Given the description of an element on the screen output the (x, y) to click on. 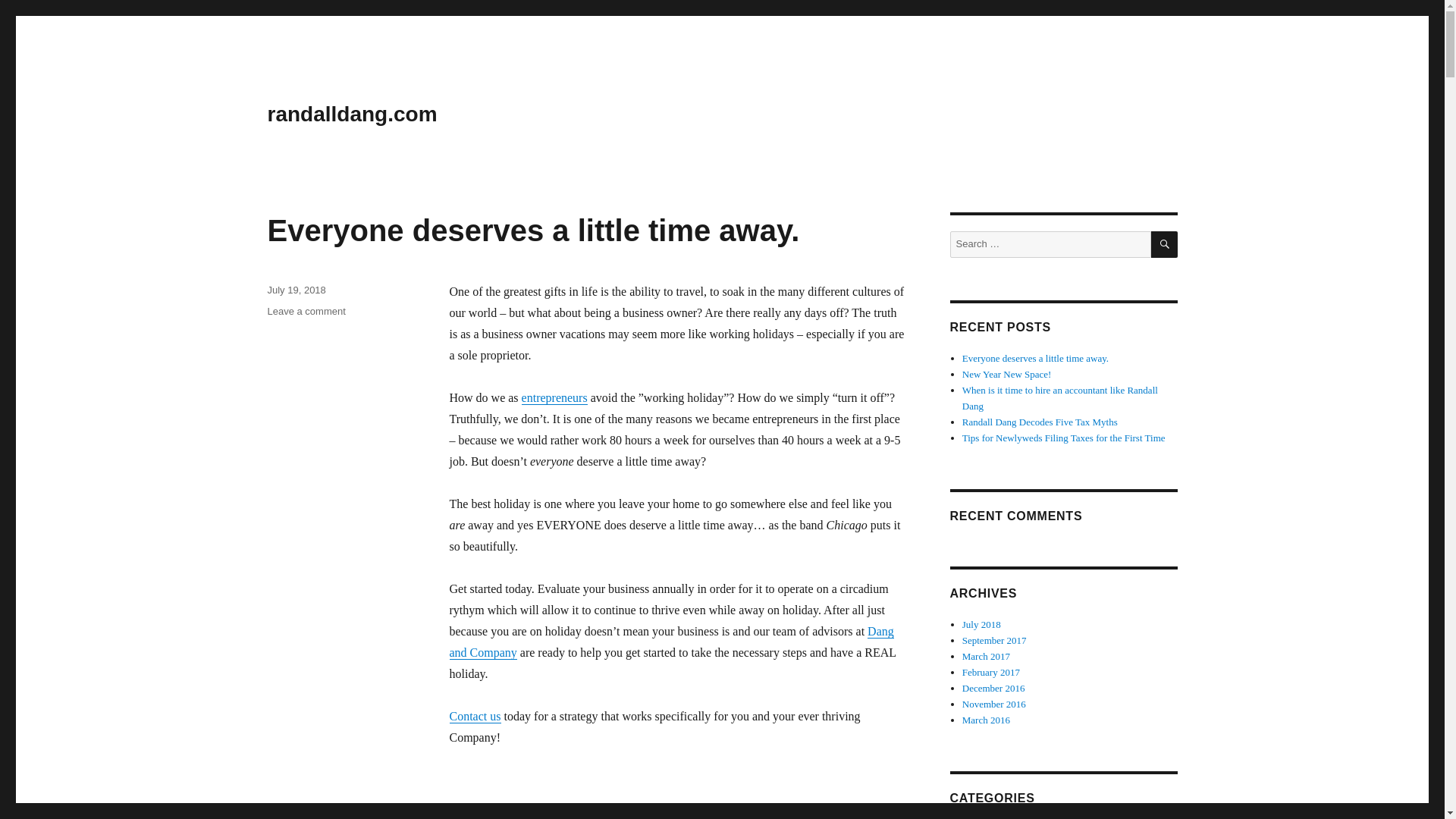
Contact us (305, 310)
Search for: (474, 716)
entrepreneurs (1049, 243)
July 19, 2018 (554, 397)
Dang and Company (295, 289)
randalldang.com (670, 641)
Everyone deserves a little time away. (351, 114)
